Given the description of an element on the screen output the (x, y) to click on. 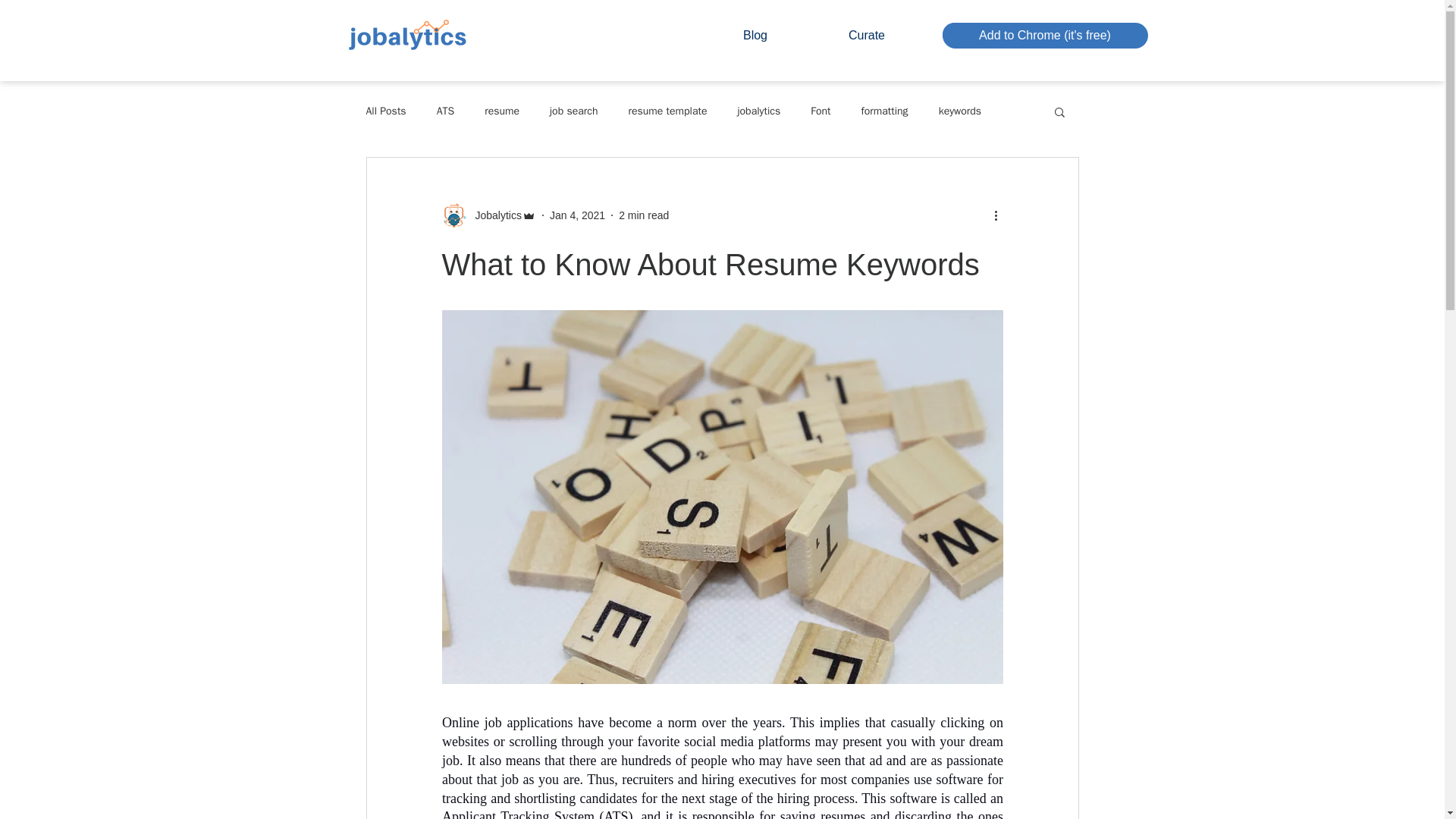
jobalytics (758, 110)
Jobalytics (488, 215)
Sign up (1016, 33)
job search (573, 110)
2 min read (643, 215)
Font (819, 110)
formatting (884, 110)
resume (501, 110)
Jan 4, 2021 (577, 215)
ATS (445, 110)
